Given the description of an element on the screen output the (x, y) to click on. 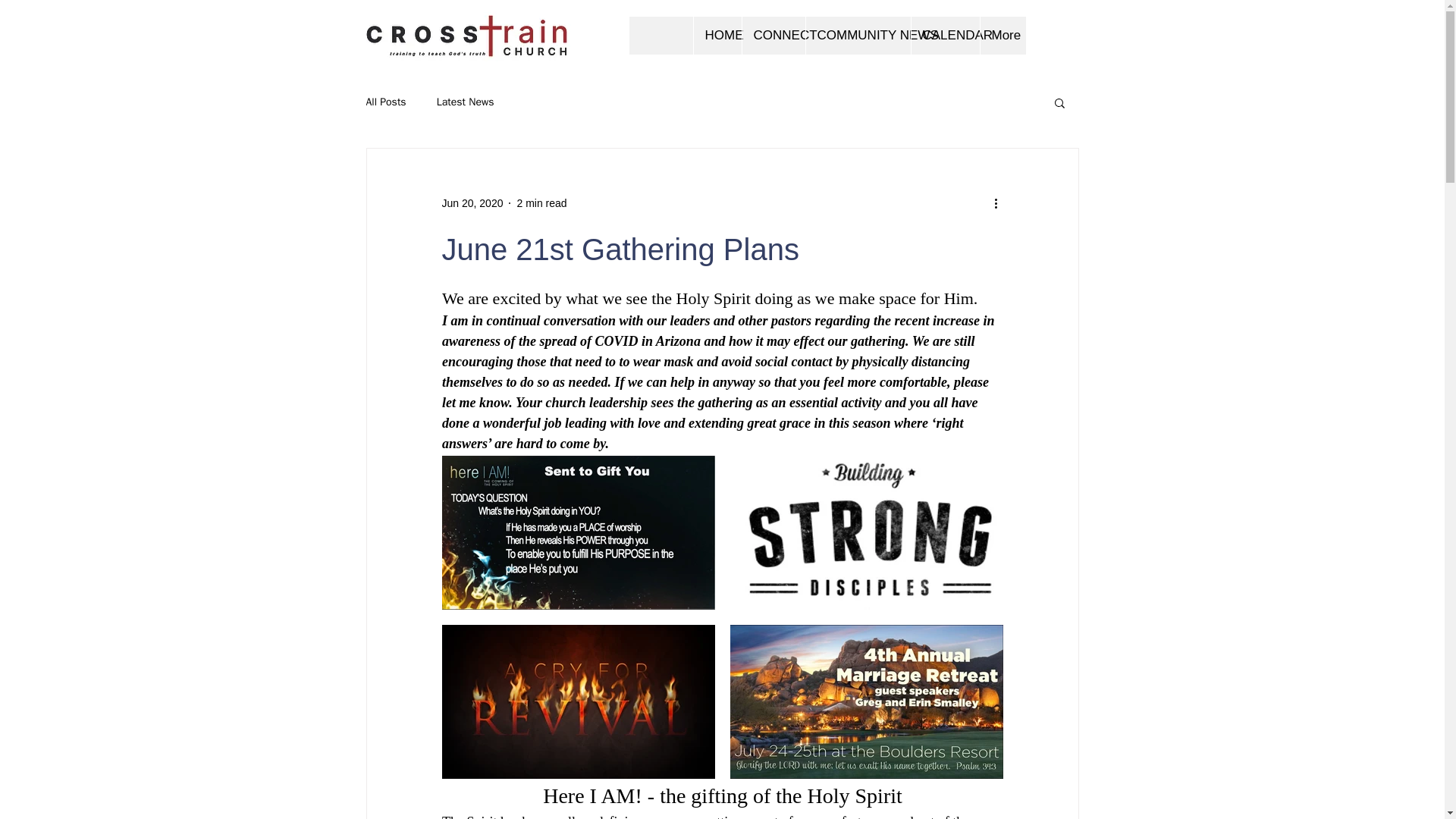
Latest News (465, 101)
All Posts (385, 101)
CALENDAR (944, 35)
Jun 20, 2020 (471, 203)
COMMUNITY NEWS (858, 35)
2 min read (541, 203)
HOME (717, 35)
